Given the description of an element on the screen output the (x, y) to click on. 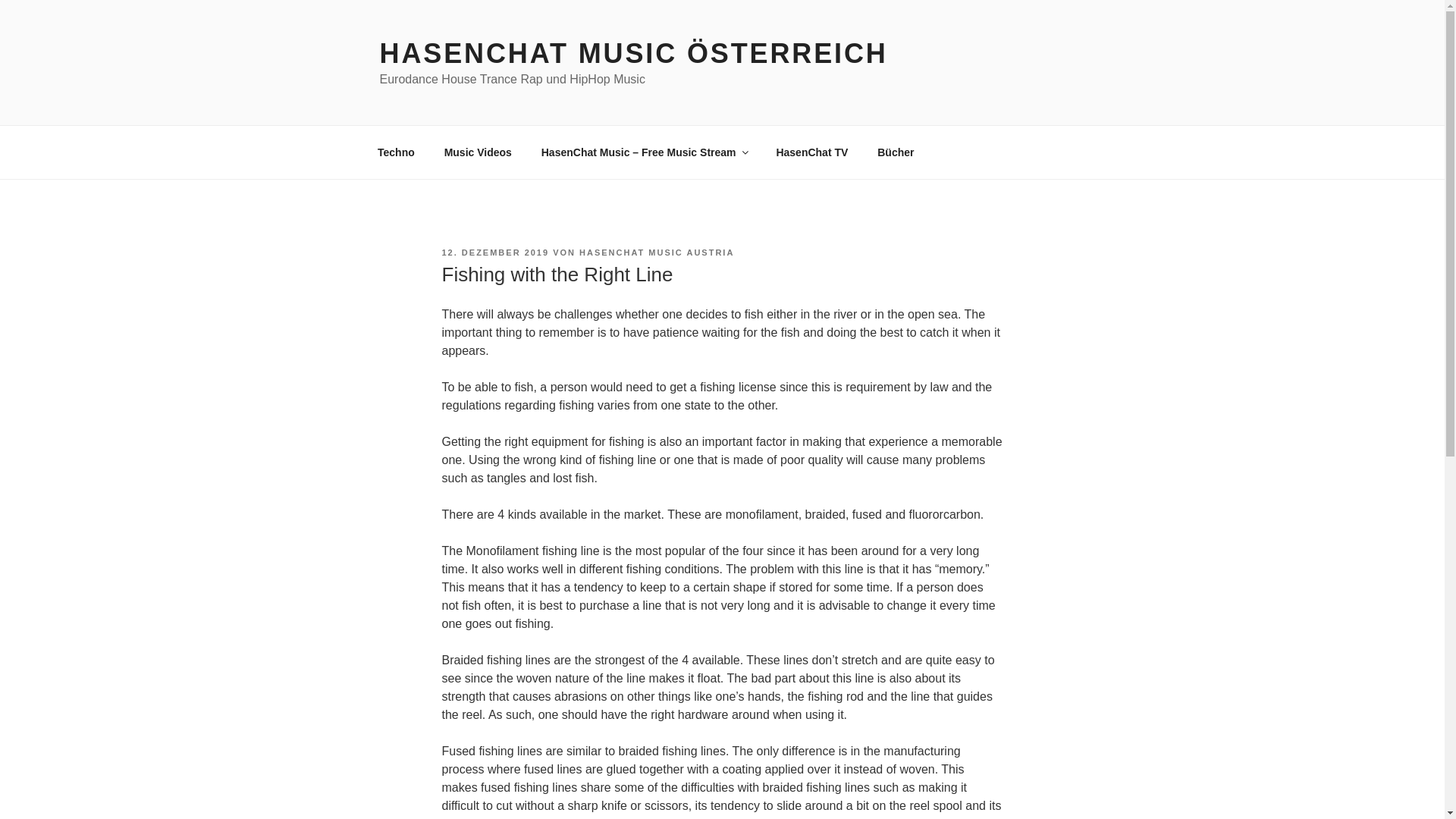
Music Videos (477, 151)
HASENCHAT MUSIC AUSTRIA (656, 252)
Techno (396, 151)
12. DEZEMBER 2019 (494, 252)
HasenChat TV (811, 151)
